Given the description of an element on the screen output the (x, y) to click on. 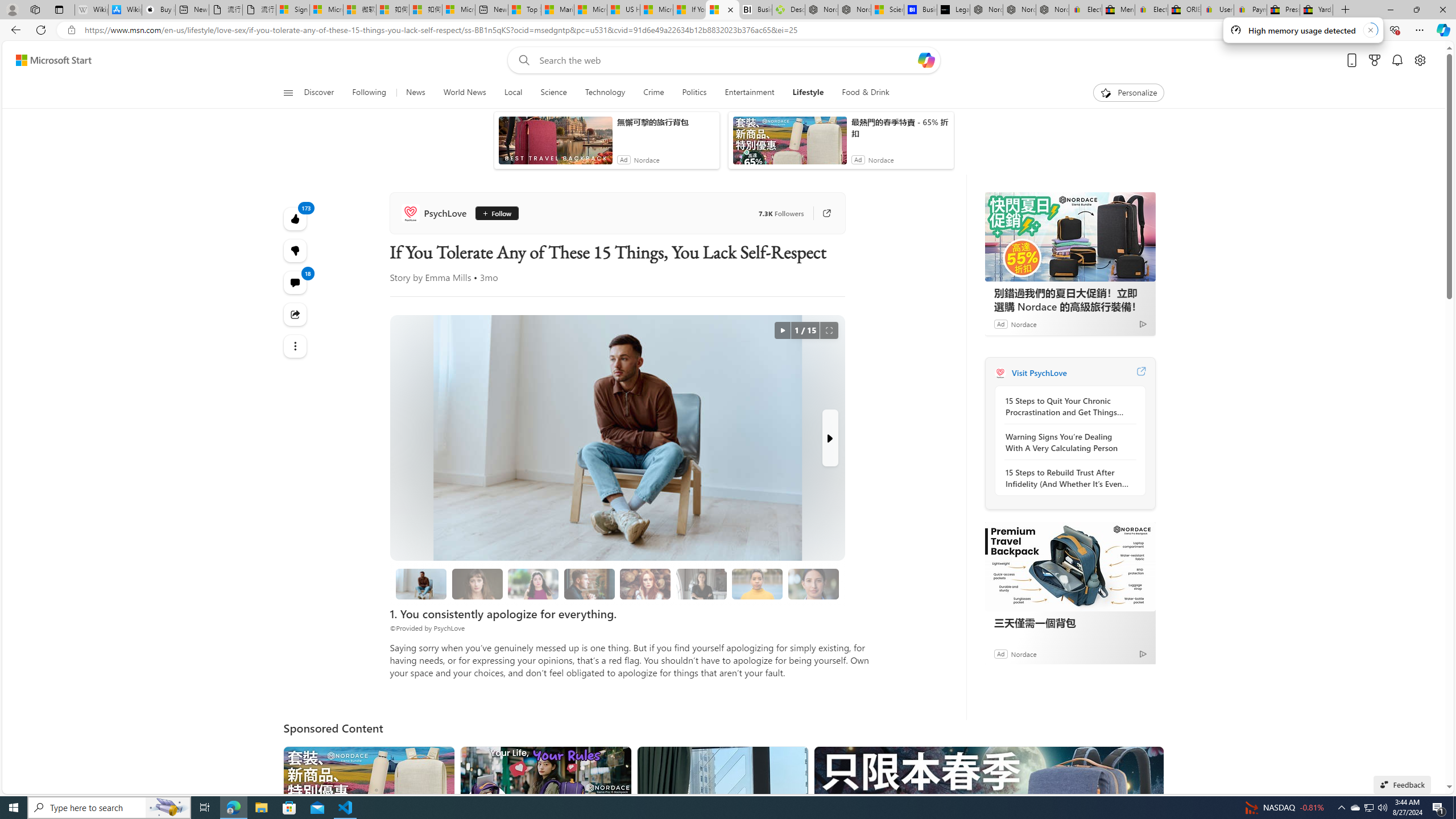
Share this story (295, 314)
Technology (604, 92)
Microsoft Services Agreement (325, 9)
8. Surround yourself with solution-oriented people. (701, 583)
PsychLove (1000, 372)
Politics (694, 92)
PsychLove (435, 212)
Entertainment (749, 92)
